Given the description of an element on the screen output the (x, y) to click on. 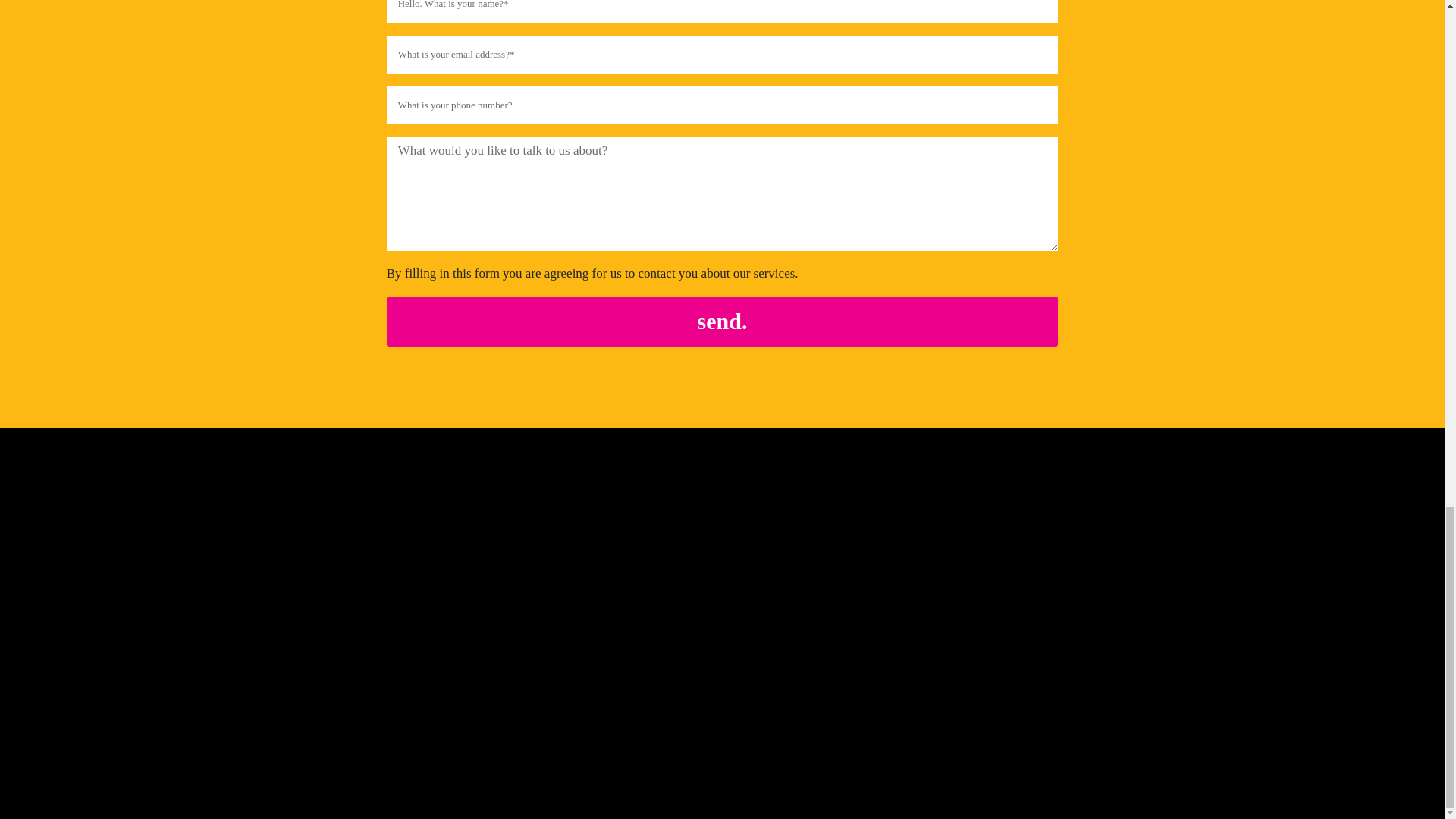
send. (722, 321)
send. (722, 321)
